Given the description of an element on the screen output the (x, y) to click on. 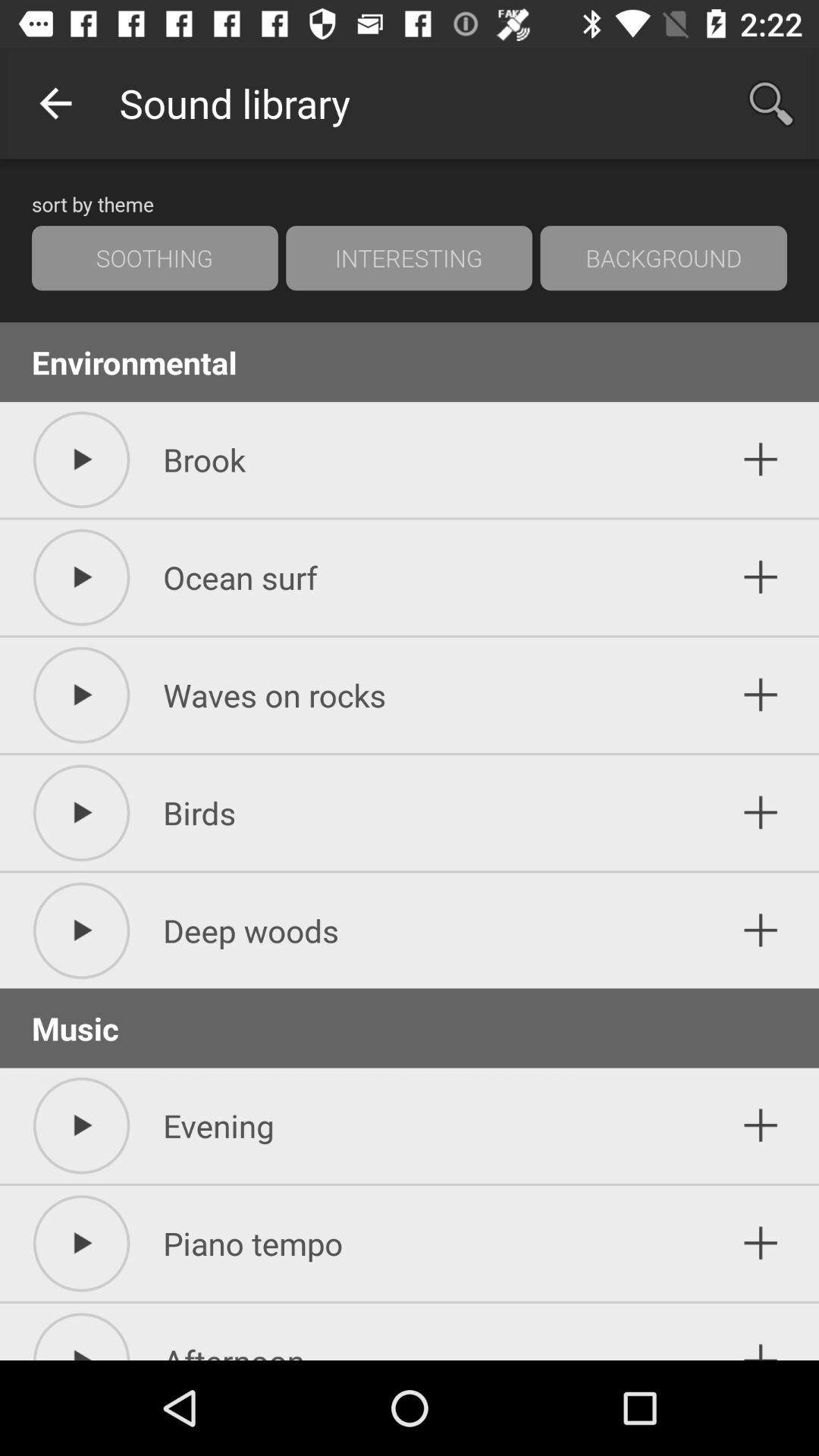
add song to playlist (761, 930)
